Given the description of an element on the screen output the (x, y) to click on. 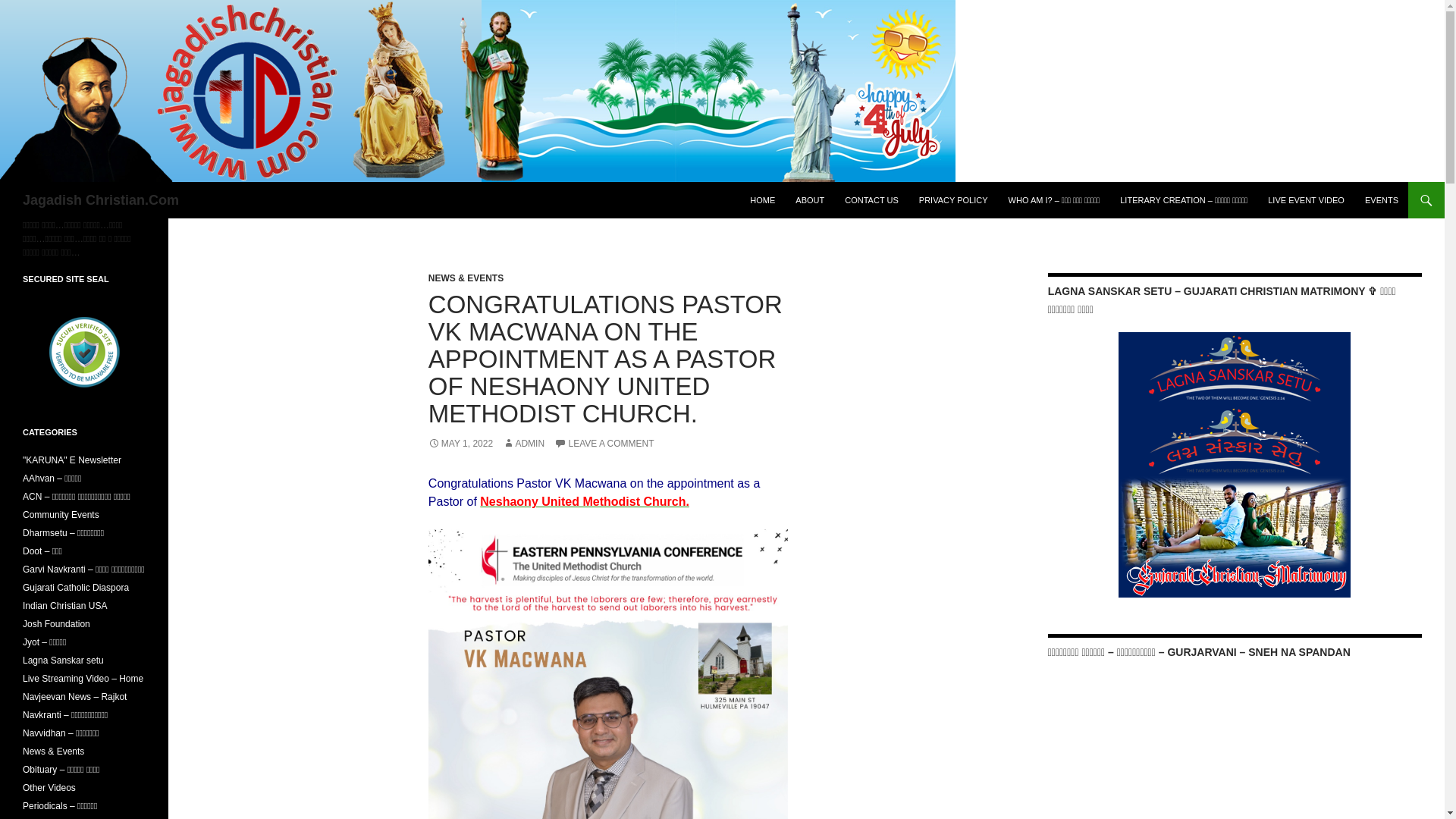
ABOUT (809, 199)
Neshaony United Methodist Church. (584, 501)
CONTACT US (871, 199)
Sneh Na Spandan (1161, 731)
ADMIN (523, 443)
LIVE EVENT VIDEO (1306, 199)
Jagadish Christian.Com (101, 199)
EVENTS (1381, 199)
MAY 1, 2022 (460, 443)
LEAVE A COMMENT (603, 443)
PRIVACY POLICY (953, 199)
HOME (762, 199)
